Given the description of an element on the screen output the (x, y) to click on. 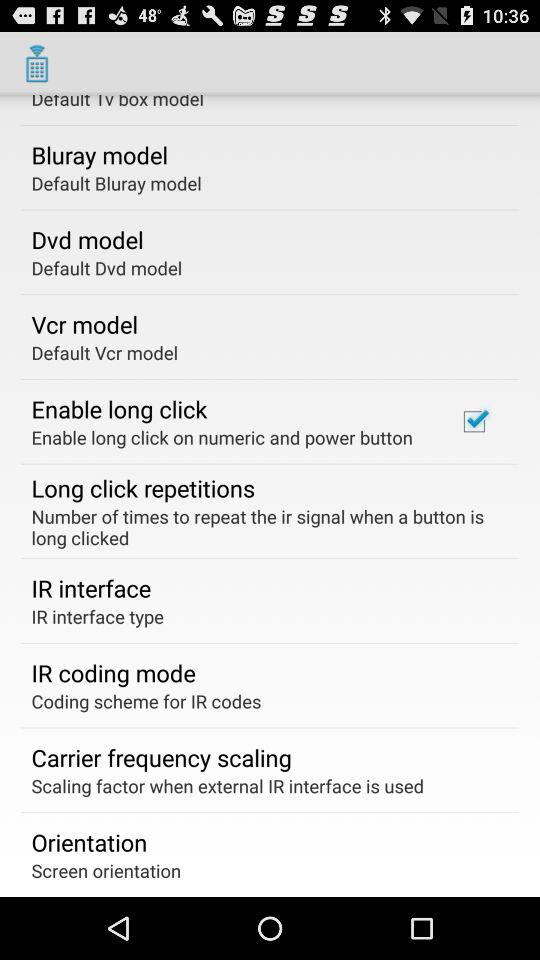
scroll until carrier frequency scaling app (161, 757)
